Given the description of an element on the screen output the (x, y) to click on. 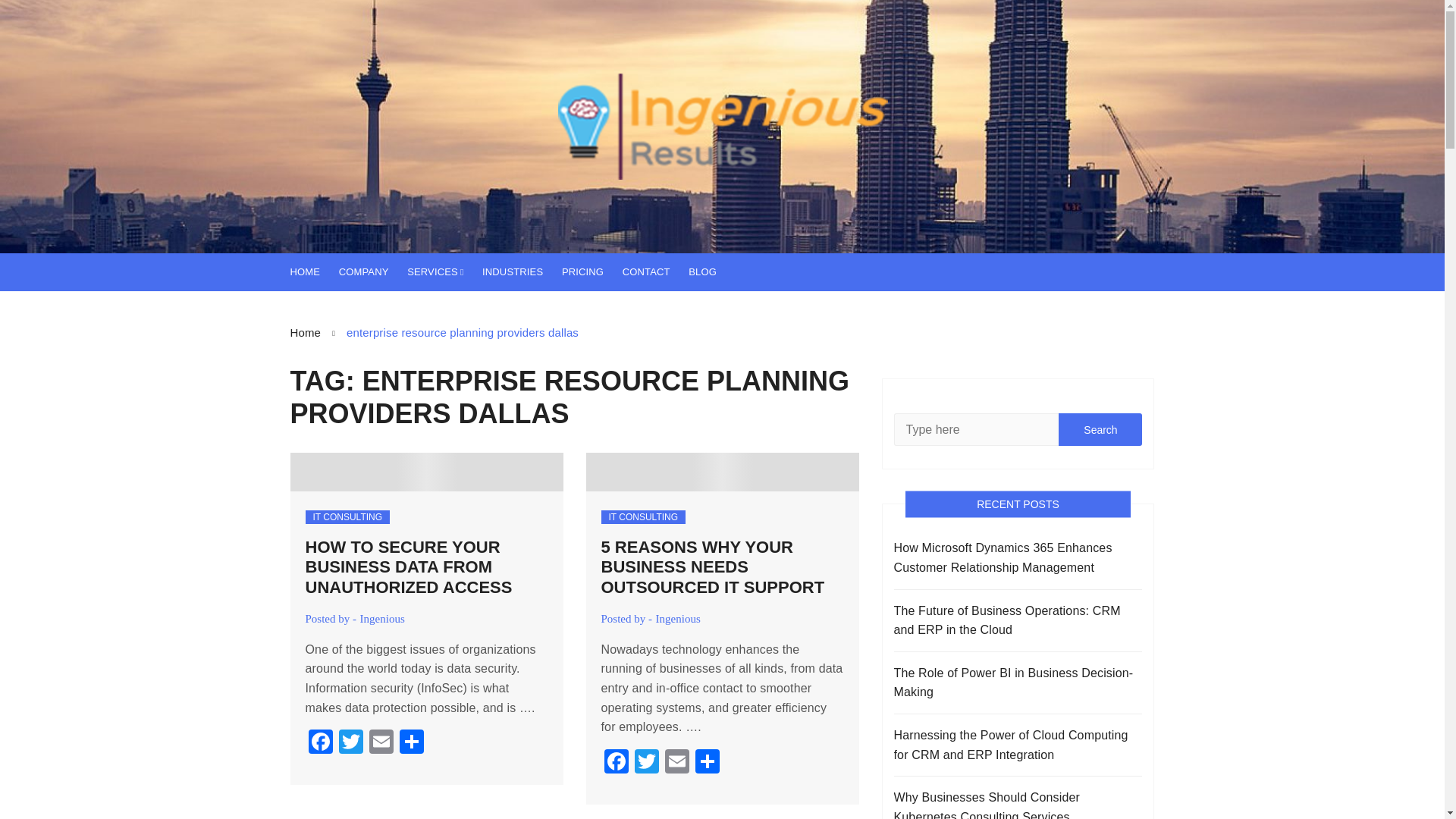
Facebook (614, 763)
HOW TO SECURE YOUR BUSINESS DATA FROM UNAUTHORIZED ACCESS (408, 567)
Email (676, 763)
Share (706, 763)
SERVICES (443, 272)
Facebook (614, 763)
Email (380, 743)
Share (411, 743)
PRICING (590, 272)
CONTACT (654, 272)
Twitter (349, 743)
Twitter (349, 743)
Search (1099, 429)
IT CONSULTING (642, 517)
Twitter (645, 763)
